Given the description of an element on the screen output the (x, y) to click on. 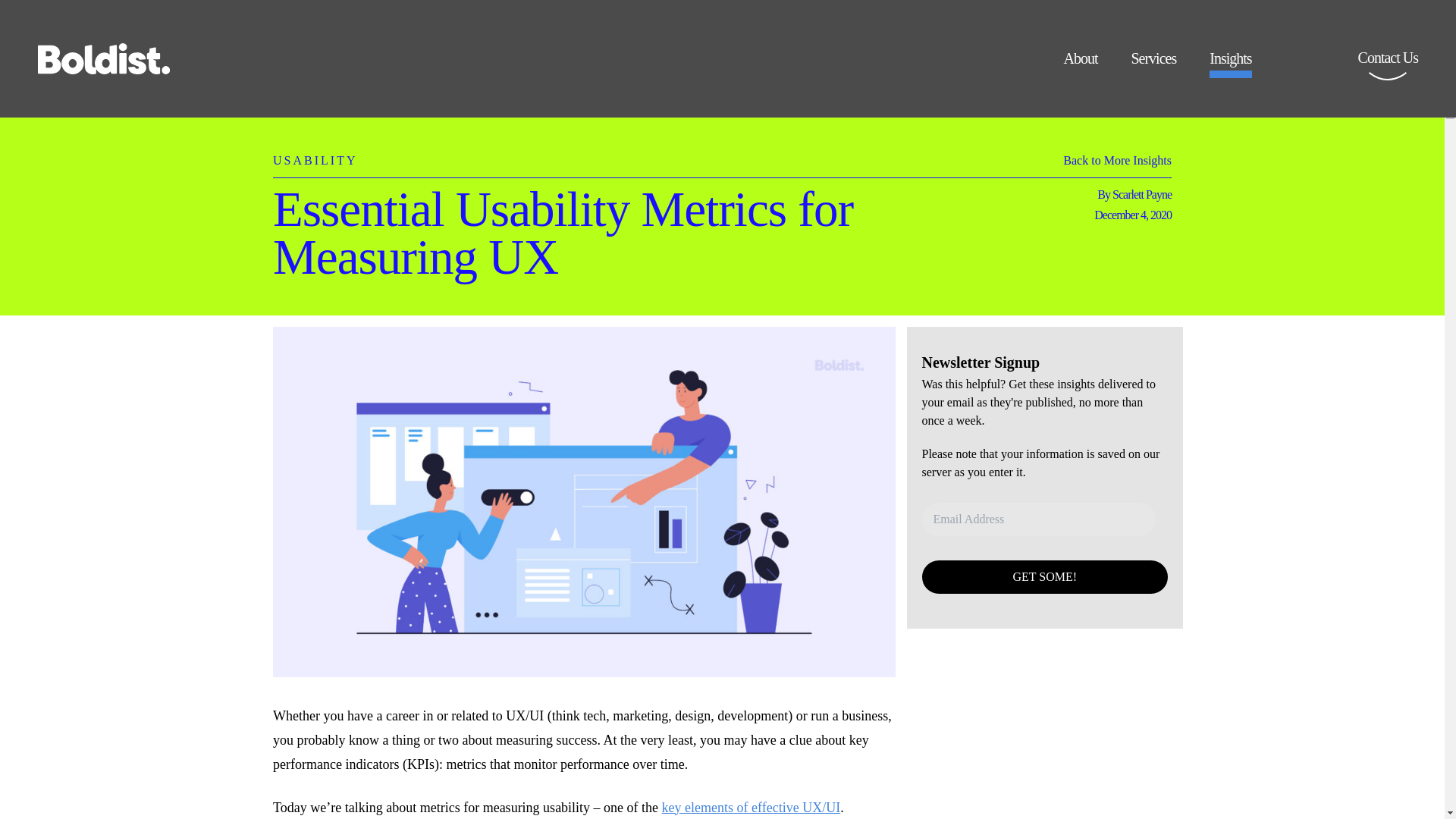
Contact Us (1388, 68)
Scarlett Payne (1142, 194)
Back to More Insights (1117, 164)
About (1079, 63)
Posts by Scarlett Payne (1142, 194)
Insights (1229, 63)
Services (1153, 63)
GET SOME! (1045, 576)
USABILITY (314, 152)
GET SOME! (1045, 576)
